Given the description of an element on the screen output the (x, y) to click on. 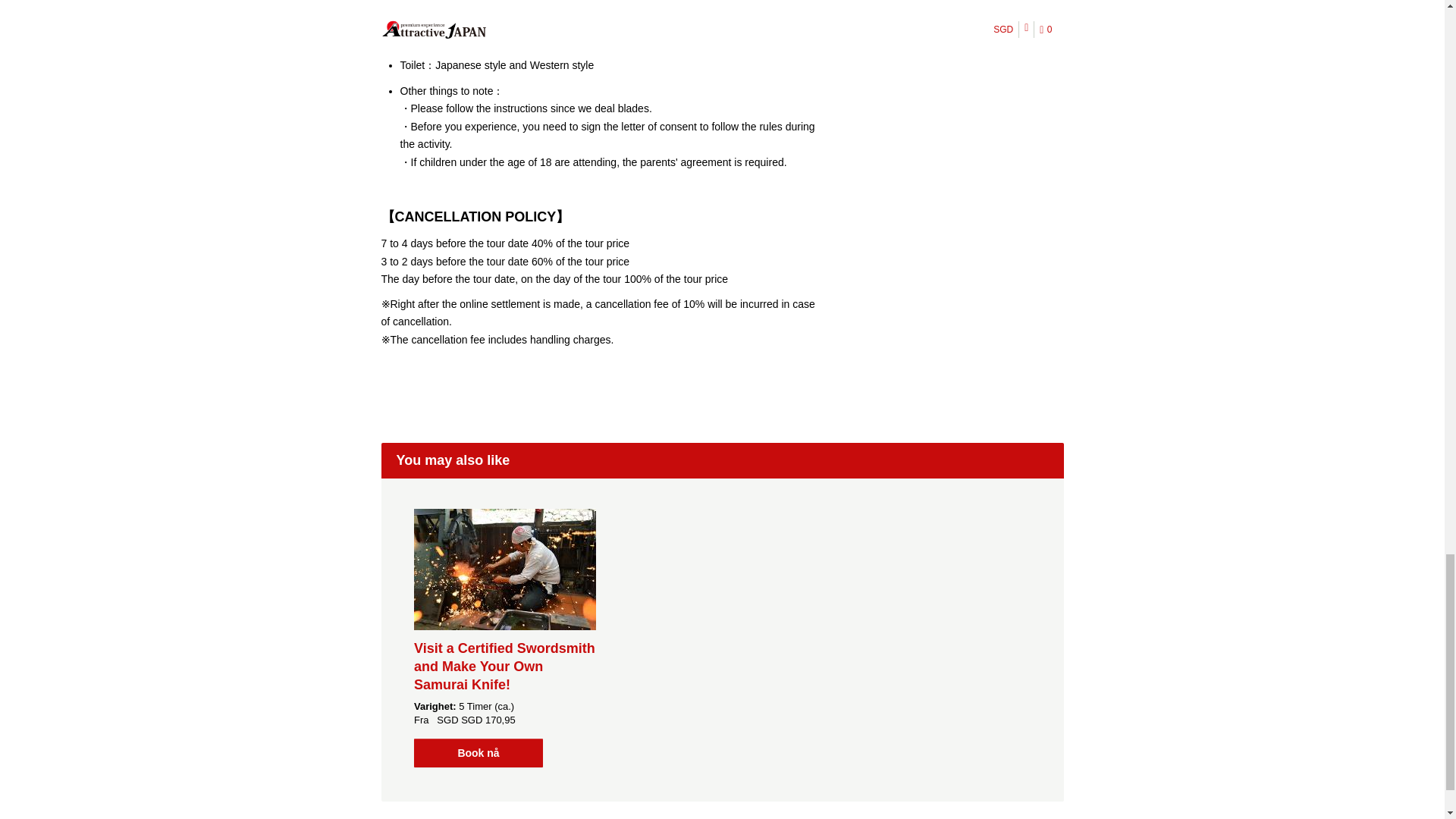
Estimated conversion from 19950 (488, 719)
